Given the description of an element on the screen output the (x, y) to click on. 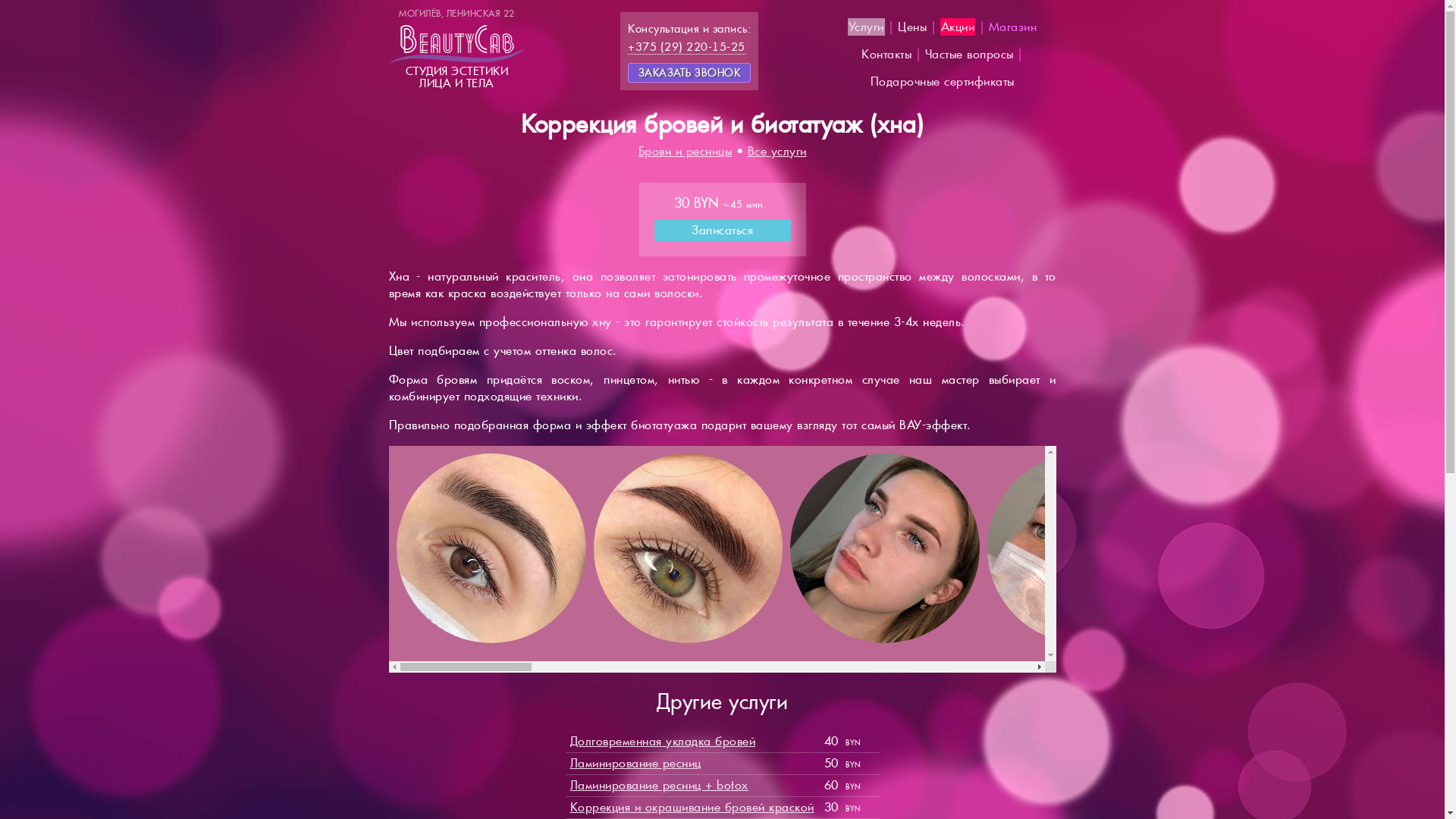
+375 (29) 220-15-25 Element type: text (686, 46)
